Given the description of an element on the screen output the (x, y) to click on. 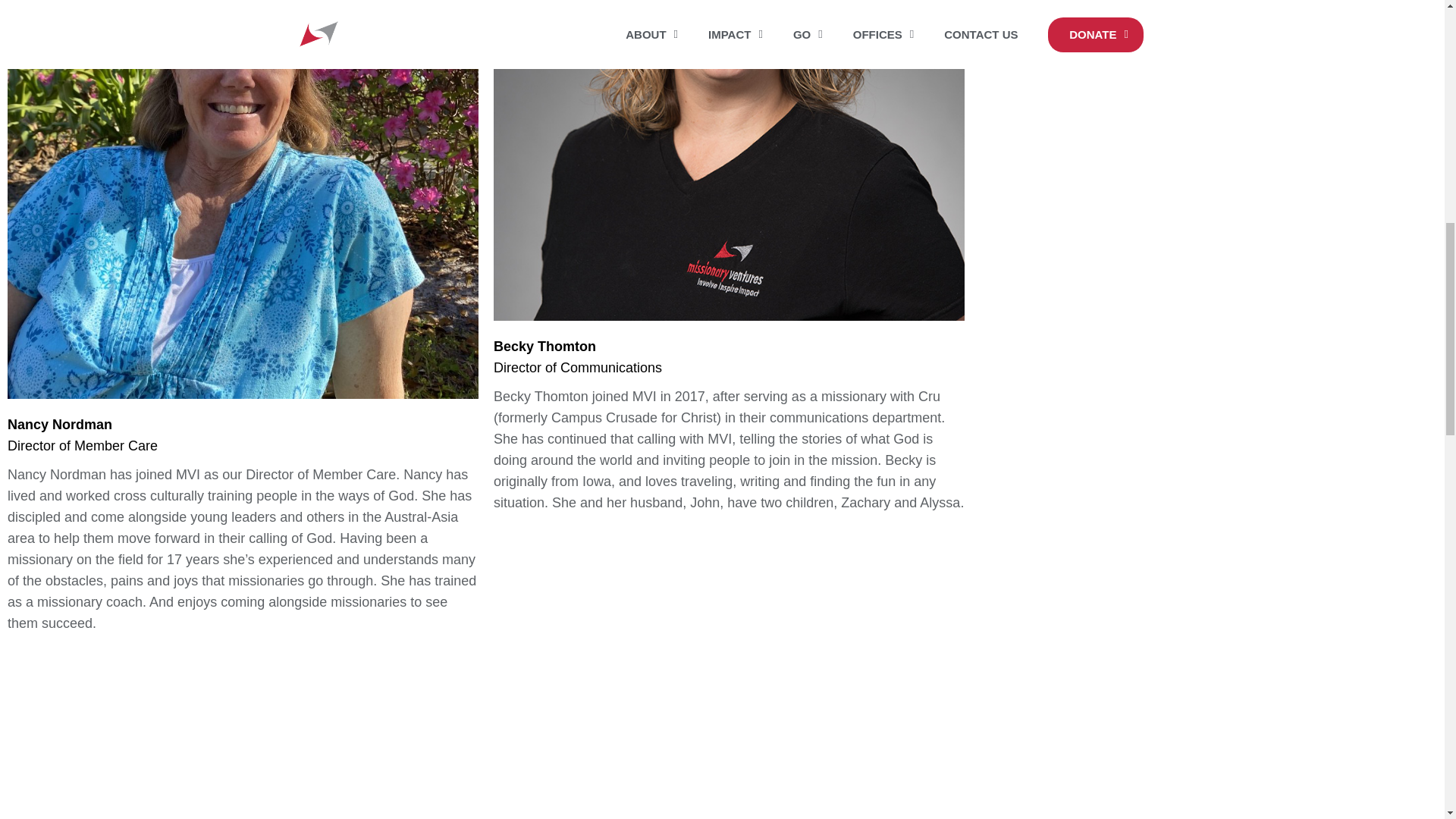
E-mail (1010, 46)
